Given the description of an element on the screen output the (x, y) to click on. 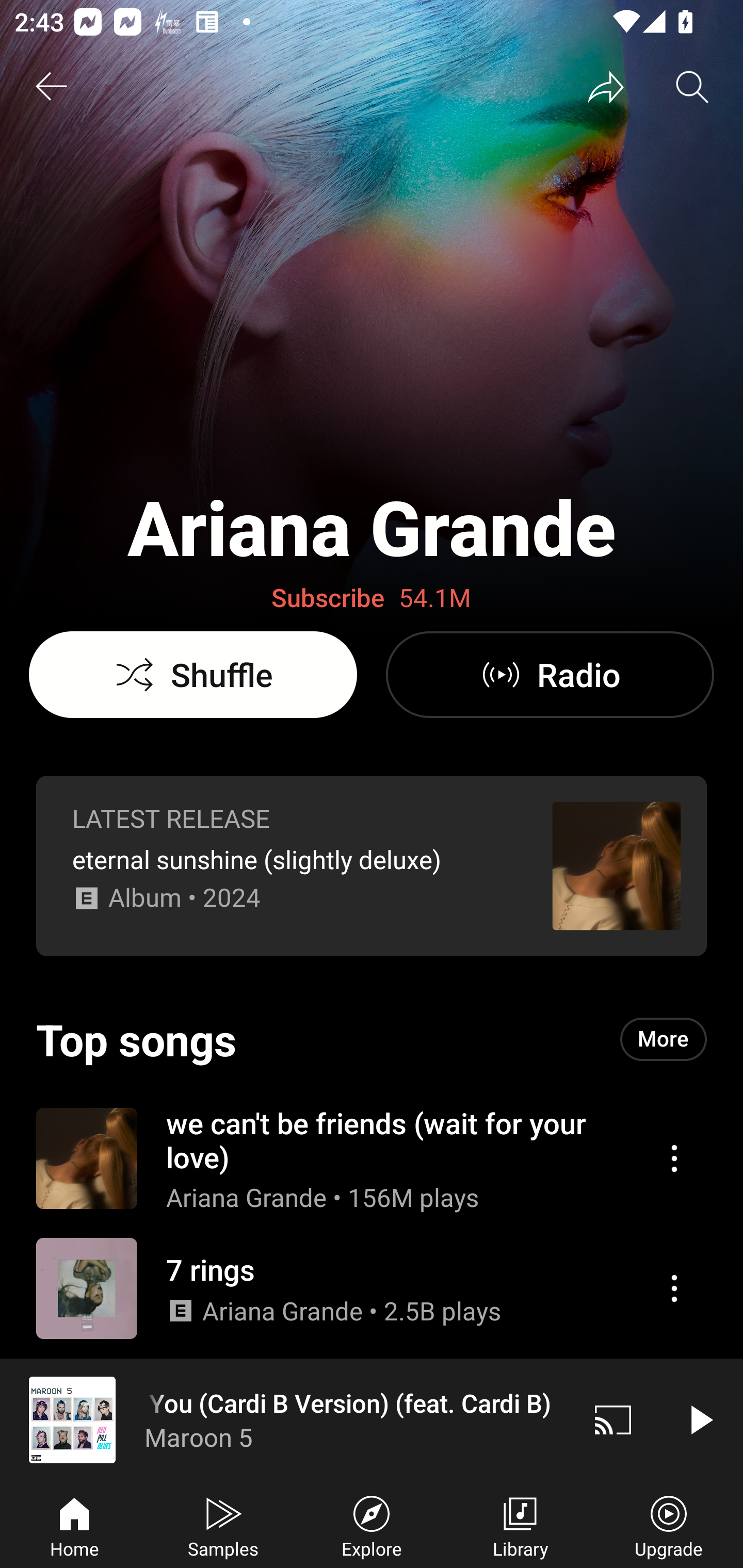
Back (50, 86)
Share (605, 86)
Search (692, 86)
Subscribe 54.1M (371, 598)
Shuffle (192, 674)
Radio (549, 674)
Action menu (371, 1157)
Action menu (673, 1158)
Action menu (371, 1288)
Action menu (673, 1288)
Cast. Disconnected (612, 1419)
Play video (699, 1419)
Home (74, 1524)
Samples (222, 1524)
Explore (371, 1524)
Library (519, 1524)
Upgrade (668, 1524)
